Given the description of an element on the screen output the (x, y) to click on. 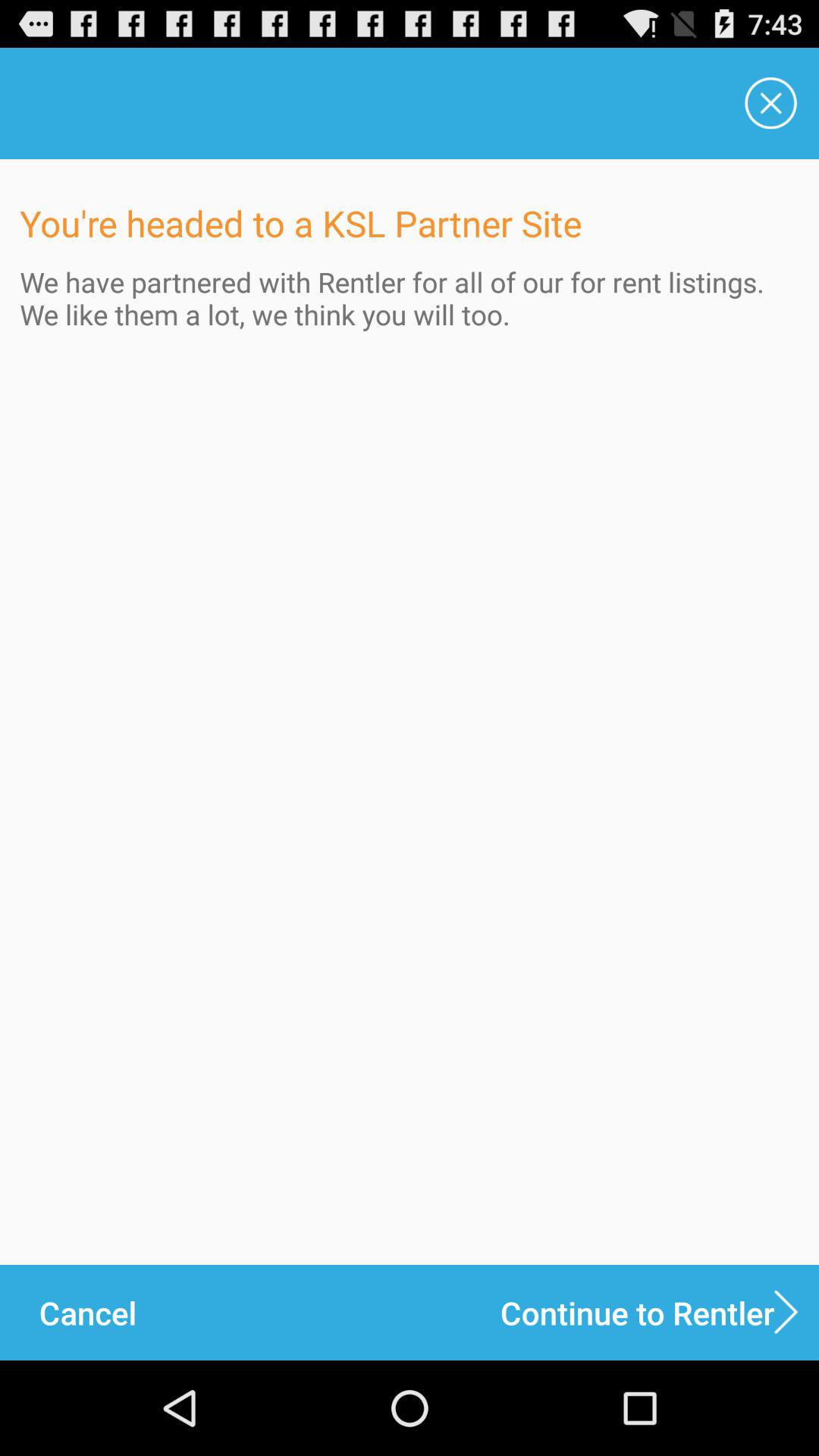
select icon to the right of the cancel item (659, 1312)
